Given the description of an element on the screen output the (x, y) to click on. 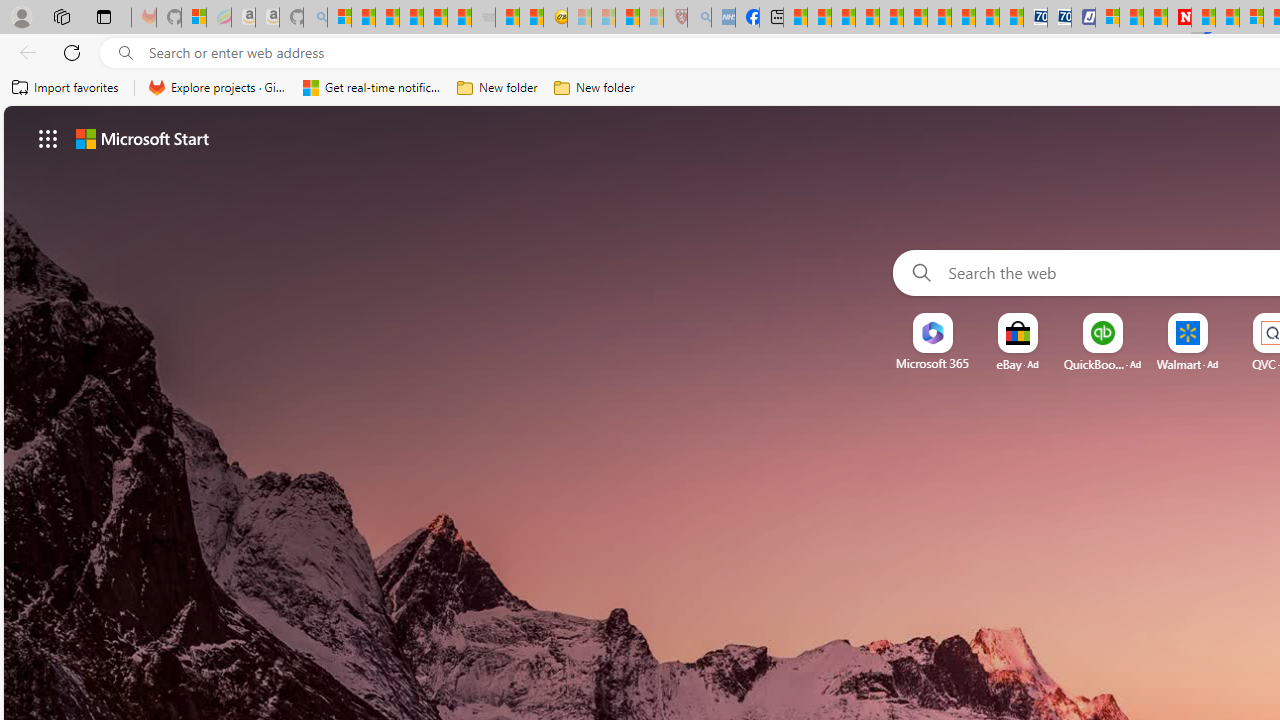
Search icon (125, 53)
14 Common Myths Debunked By Scientific Facts (1227, 17)
Recipes - MSN - Sleeping (579, 17)
The Weather Channel - MSN (387, 17)
New folder (594, 88)
Stocks - MSN (459, 17)
Microsoft-Report a Concern to Bing (193, 17)
